Given the description of an element on the screen output the (x, y) to click on. 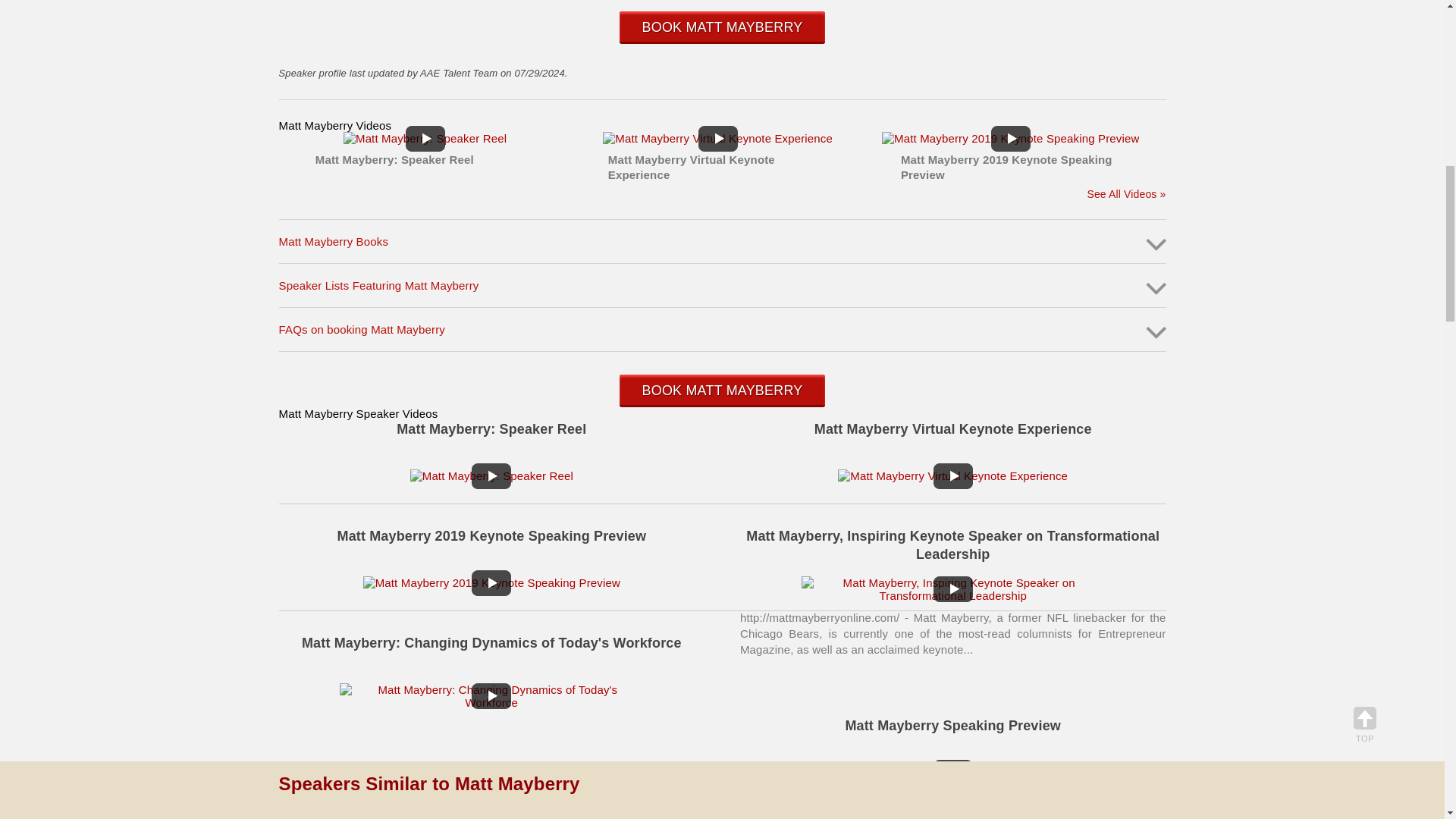
Matt Mayberry: Speaker Reel  (491, 475)
Matt Mayberry 2019 Keynote Speaking Preview (491, 582)
Matt Mayberry Virtual Keynote Experience (952, 475)
